Given the description of an element on the screen output the (x, y) to click on. 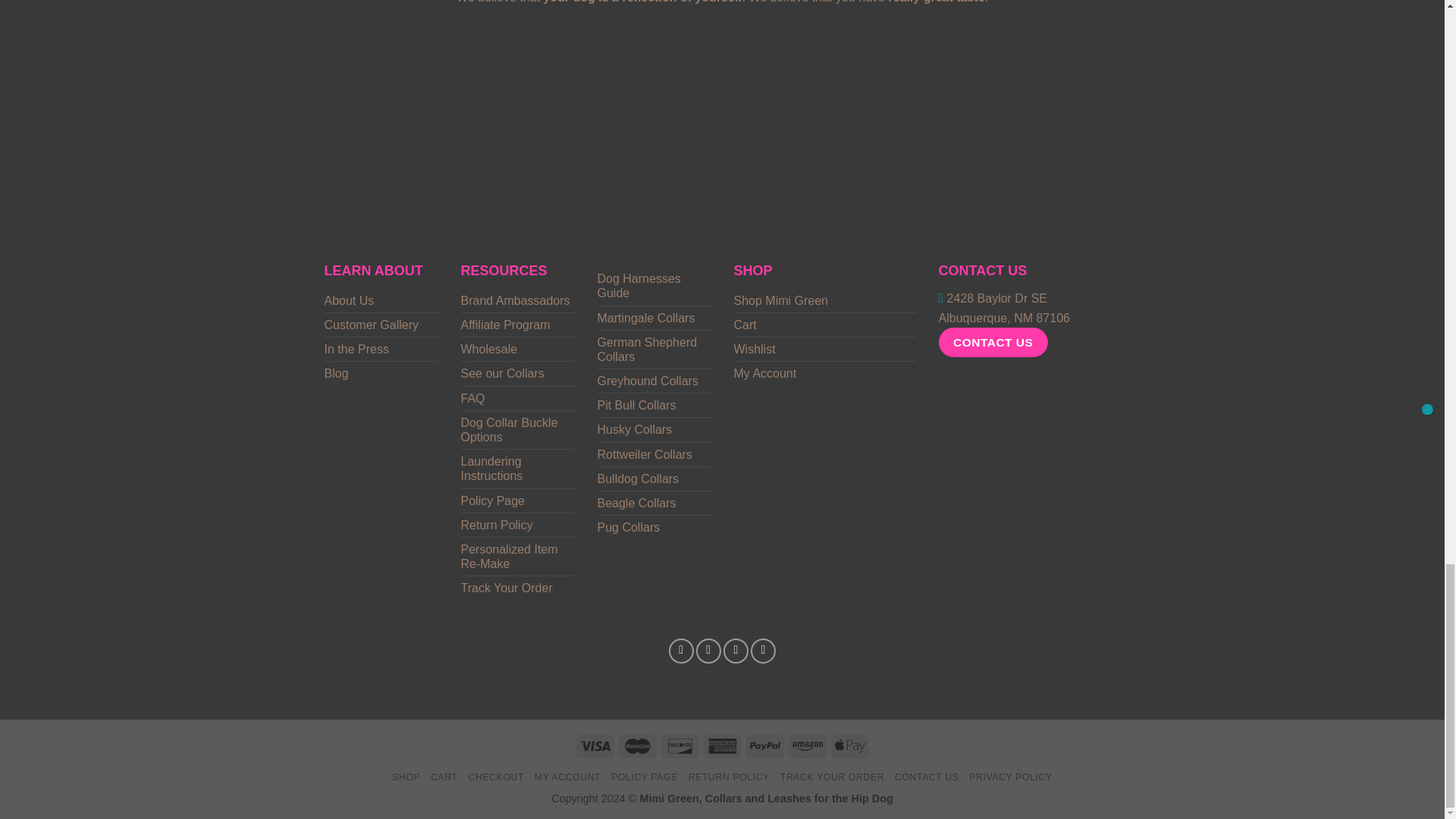
Follow on Pinterest (763, 650)
Follow on Instagram (707, 650)
Follow on Twitter (735, 650)
Follow on Facebook (681, 650)
